Given the description of an element on the screen output the (x, y) to click on. 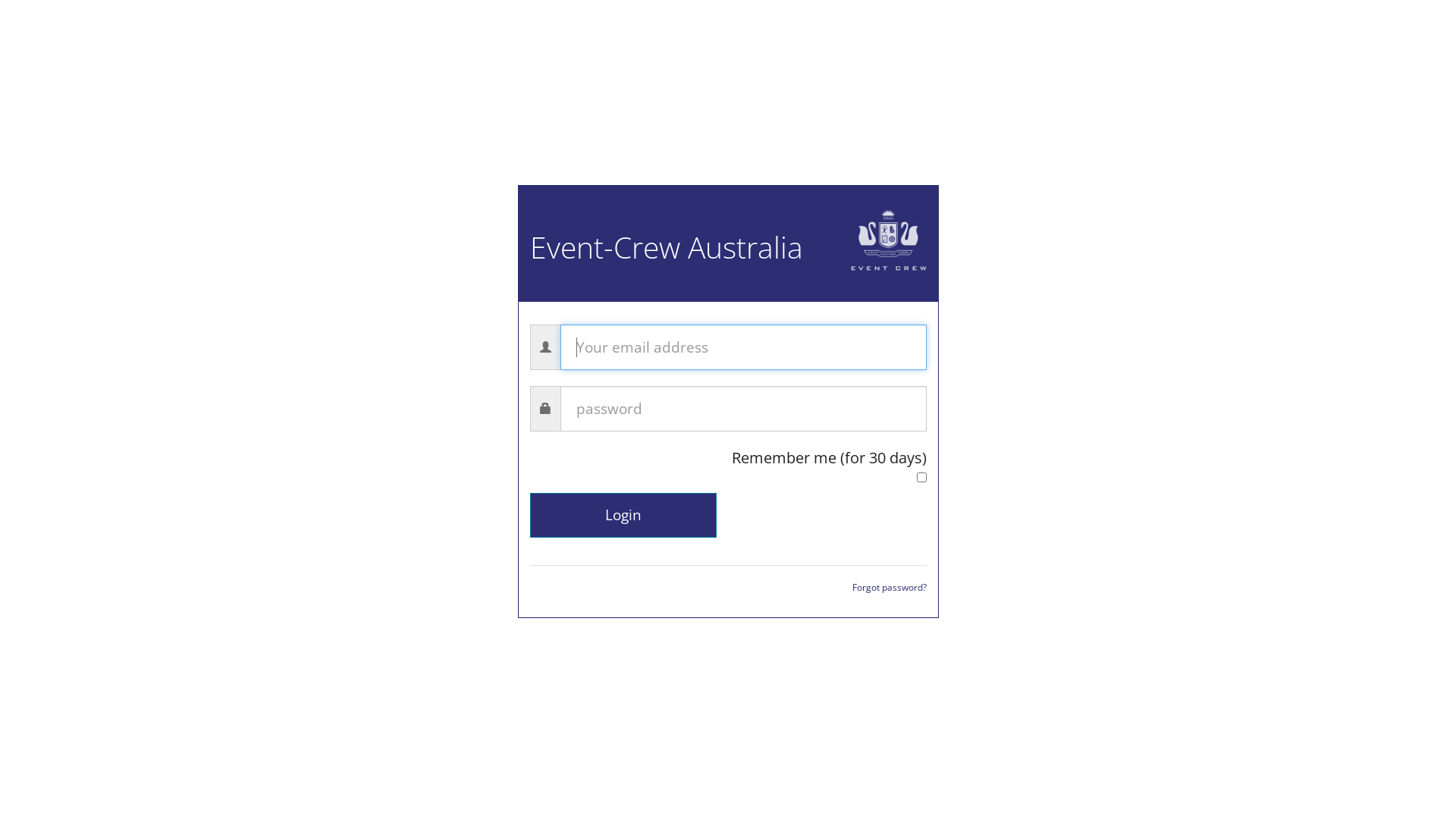
Forgot password? Element type: text (889, 585)
Login Element type: text (622, 514)
